Given the description of an element on the screen output the (x, y) to click on. 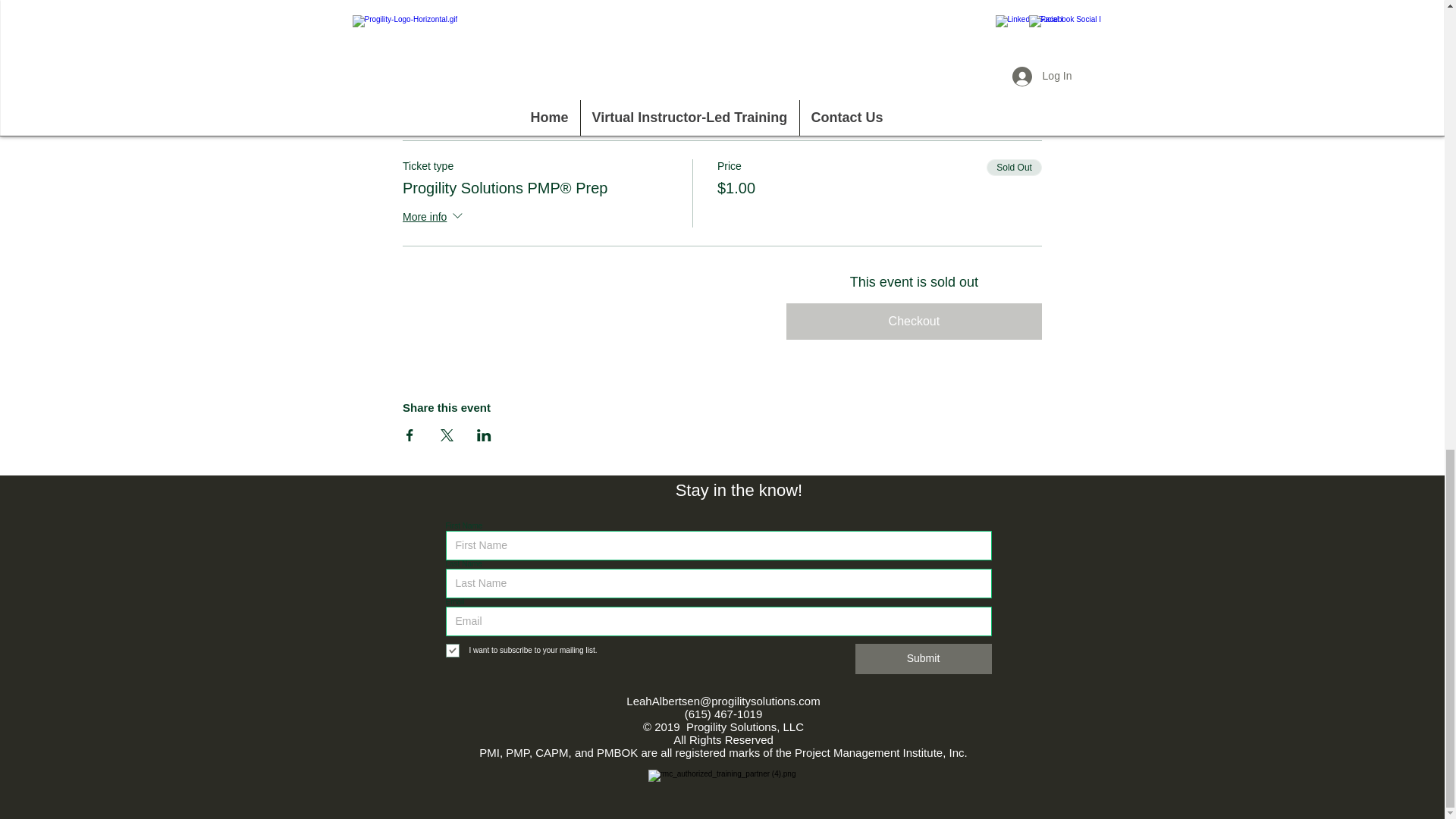
More info (434, 218)
Checkout (914, 321)
Submit (923, 658)
